Given the description of an element on the screen output the (x, y) to click on. 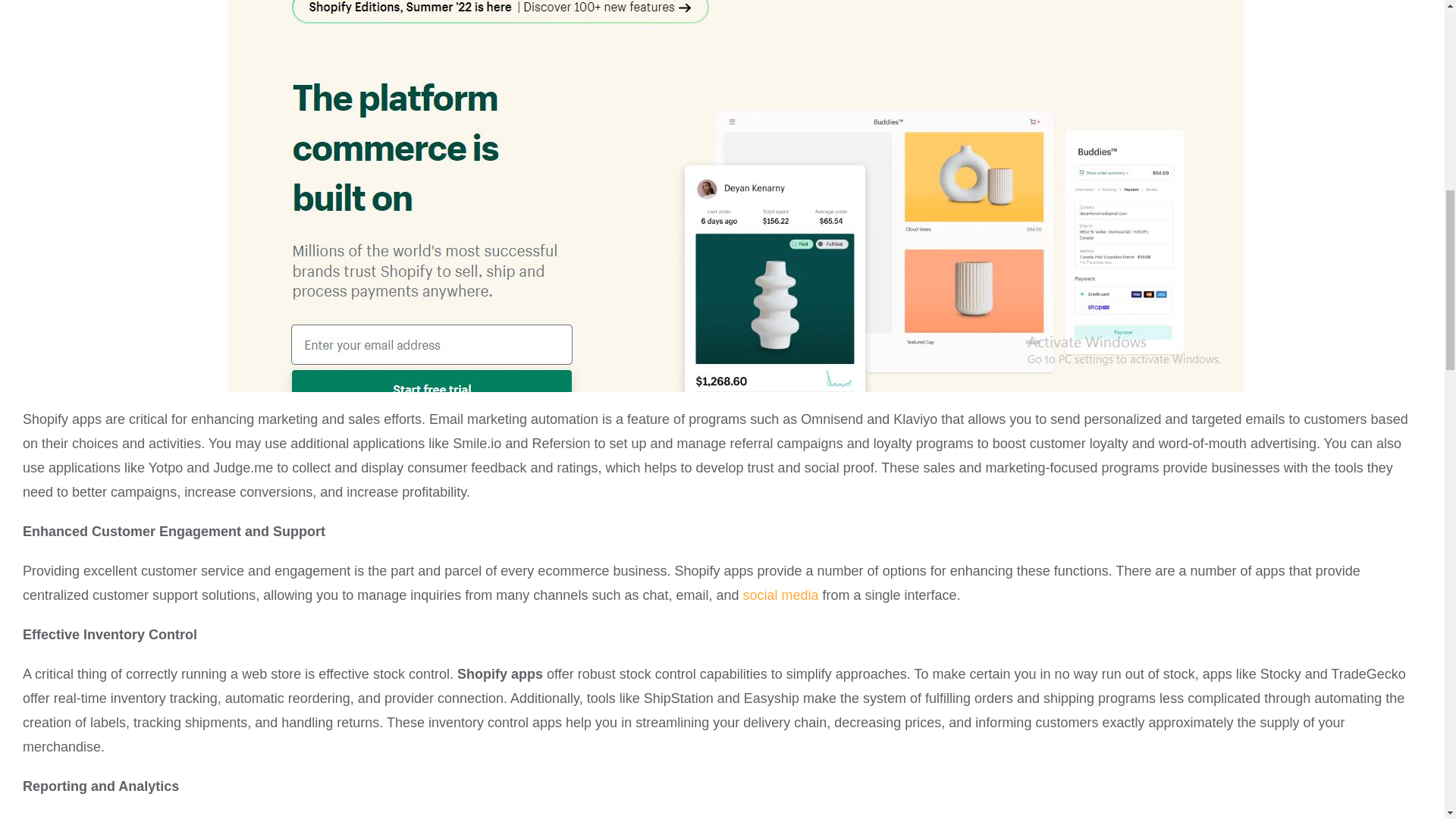
social media (780, 595)
